Given the description of an element on the screen output the (x, y) to click on. 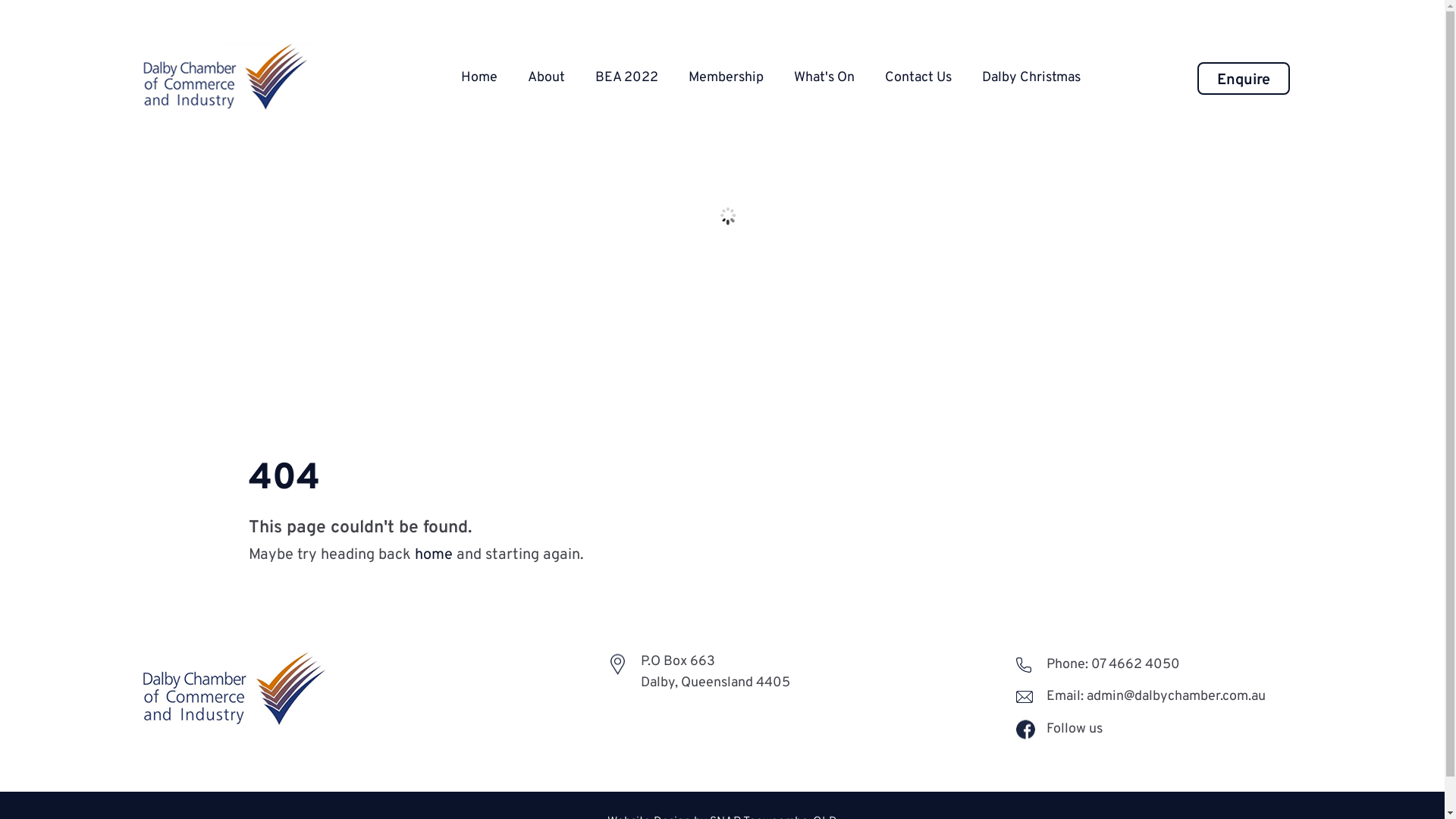
07 4662 4050 Element type: text (1135, 664)
About Element type: text (546, 78)
Dalby Christmas Element type: text (1031, 78)
home Element type: text (432, 554)
Follow us Element type: text (1059, 740)
What's On Element type: text (824, 78)
Membership Element type: text (725, 78)
Home Element type: text (479, 78)
Enquire Element type: text (1243, 78)
admin@dalbychamber.com.au Element type: text (1177, 696)
Contact Us Element type: text (918, 78)
BEA 2022 Element type: text (626, 78)
